Given the description of an element on the screen output the (x, y) to click on. 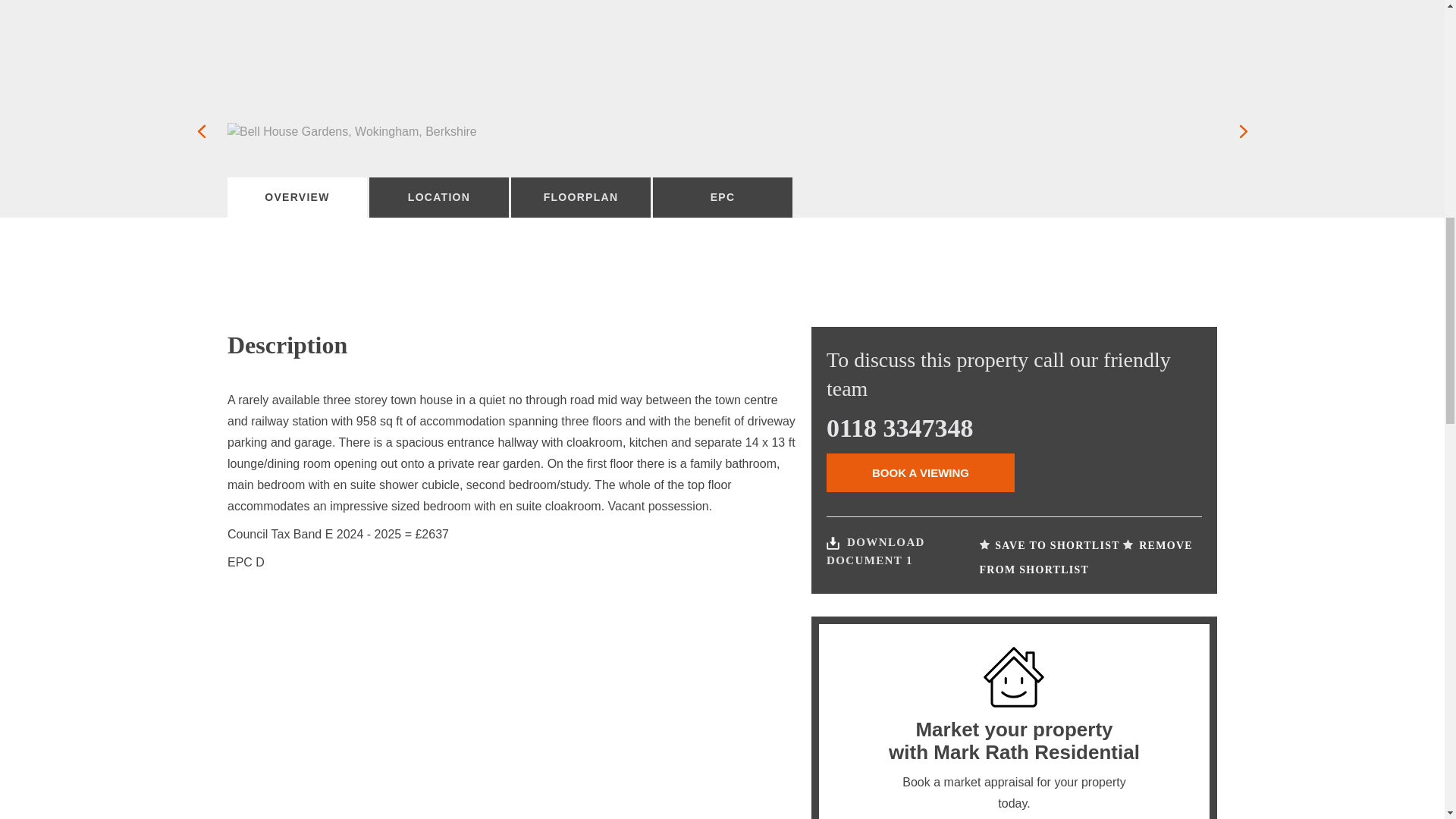
FLOORPLAN (580, 197)
LOCATION (438, 197)
OVERVIEW (296, 197)
BOOK A VIEWING (920, 472)
0118 3347348 (900, 428)
EPC (722, 197)
DOWNLOAD DOCUMENT 1 (875, 551)
